Given the description of an element on the screen output the (x, y) to click on. 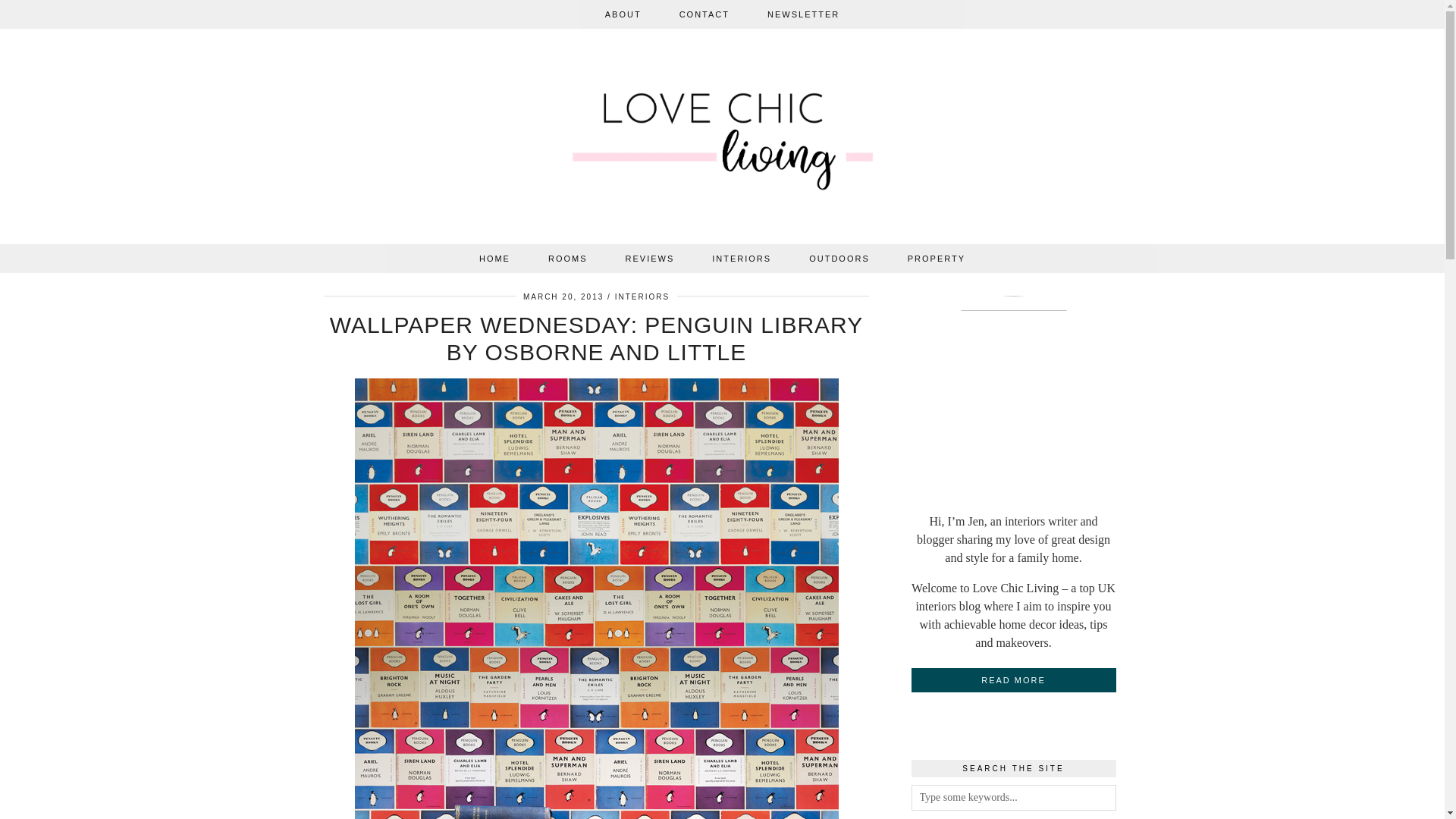
REVIEWS (650, 258)
Love Chic Living (722, 139)
NEWSLETTER (803, 14)
HOME (494, 258)
ABOUT (623, 14)
CONTACT (704, 14)
INTERIORS (741, 258)
ROOMS (568, 258)
